Given the description of an element on the screen output the (x, y) to click on. 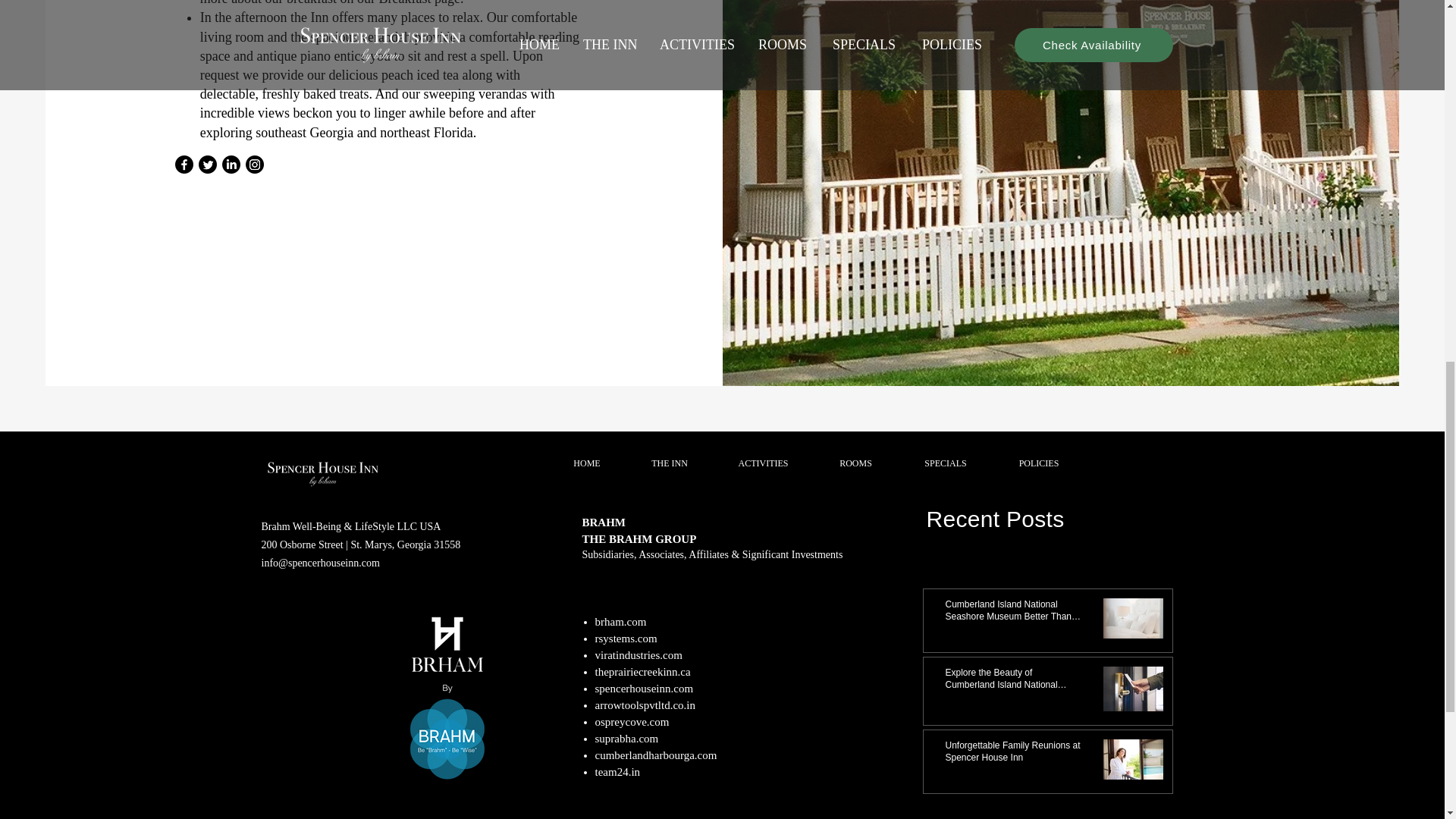
viratindustries.com (637, 654)
theprairiecreekinn.ca (642, 671)
rsystems.com (625, 638)
HOME (586, 463)
ospreycove.com (631, 721)
THE INN (669, 463)
cumberlandharbourga.com (655, 755)
brham.com (620, 621)
SPECIALS (945, 463)
arrowtoolspvtltd.co.in (644, 705)
